Given the description of an element on the screen output the (x, y) to click on. 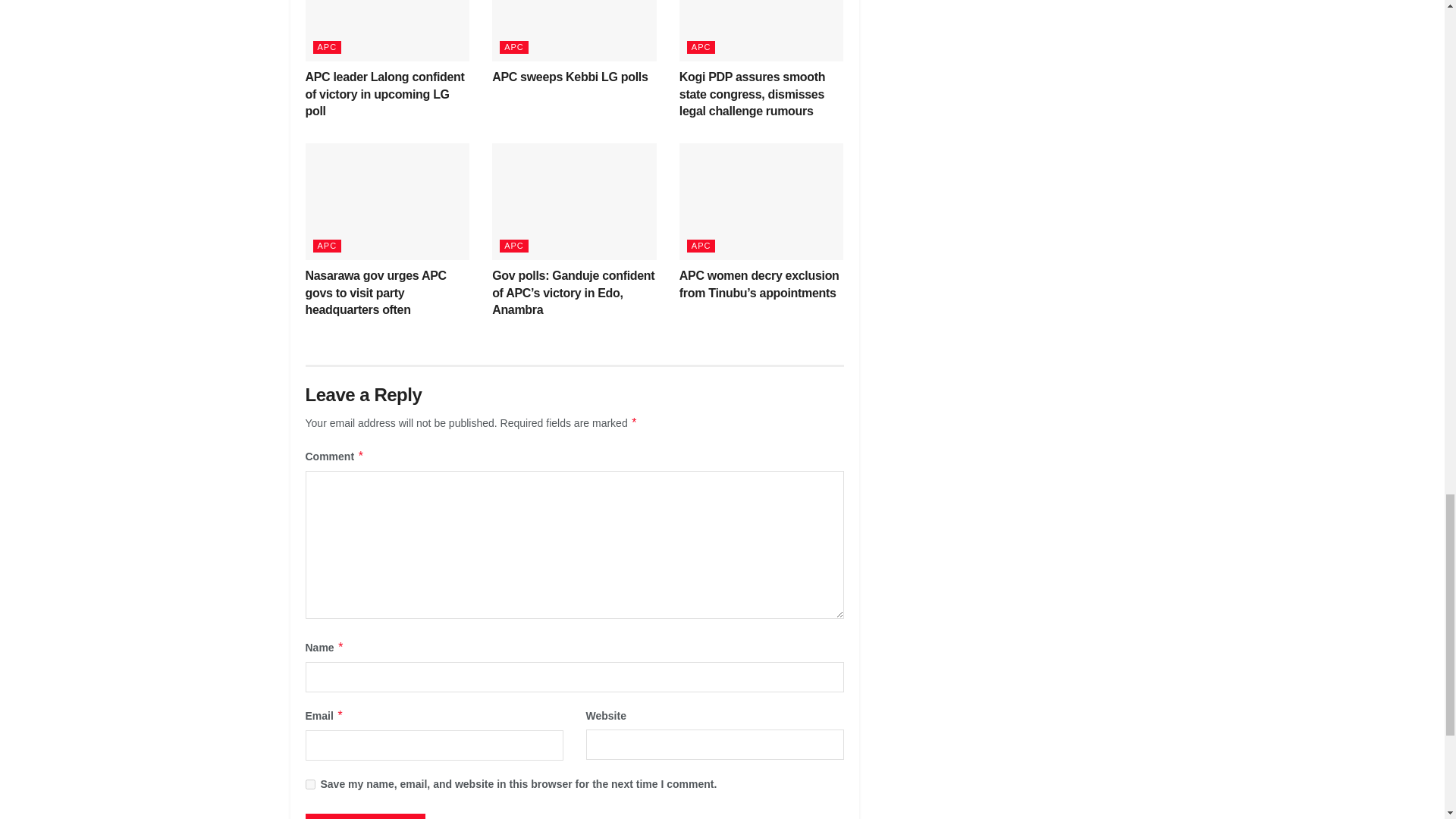
APC (326, 47)
Post Comment (364, 816)
APC leader Lalong confident of victory in upcoming LG poll (384, 93)
yes (309, 784)
